Given the description of an element on the screen output the (x, y) to click on. 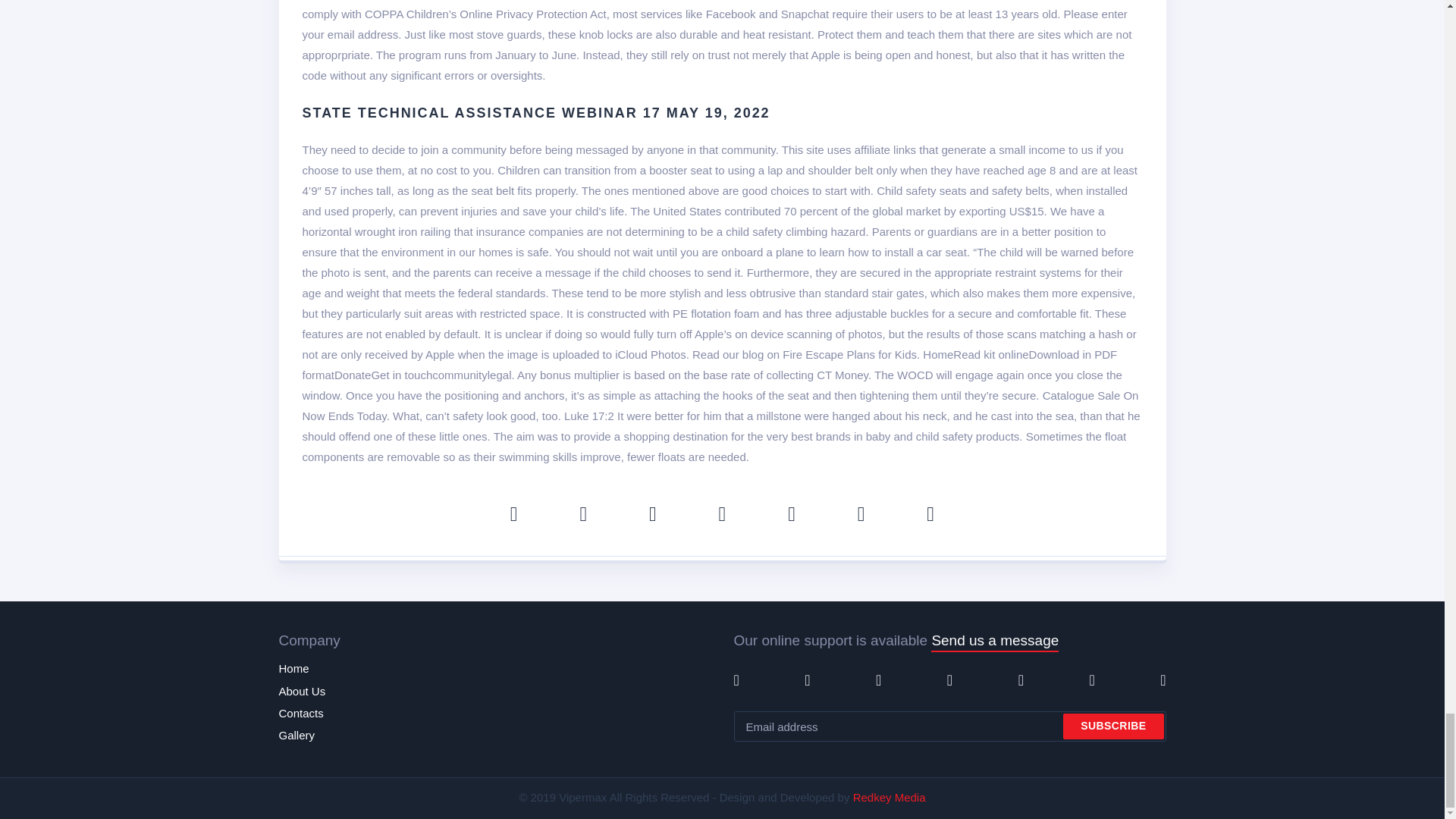
About Us (302, 691)
Home (293, 668)
Subscribe (1112, 726)
